Given the description of an element on the screen output the (x, y) to click on. 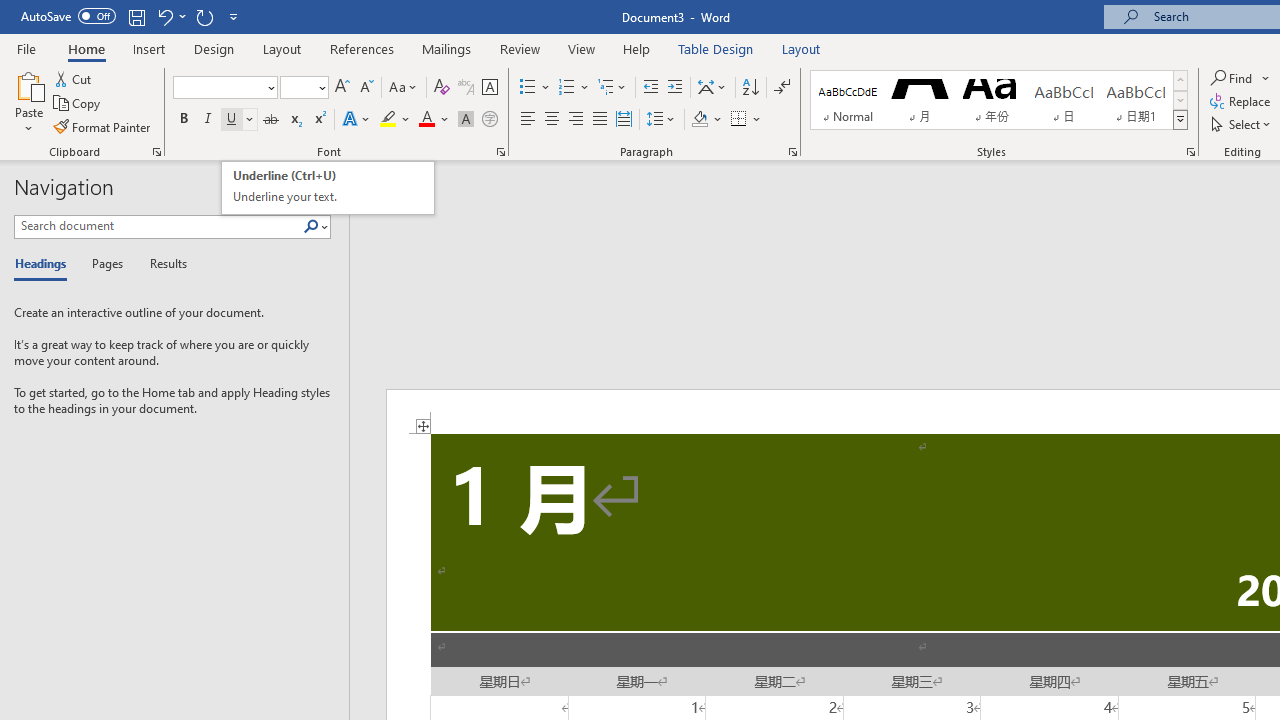
Repeat Doc Close (204, 15)
Styles... (1190, 151)
Character Border (489, 87)
Phonetic Guide... (328, 188)
